Given the description of an element on the screen output the (x, y) to click on. 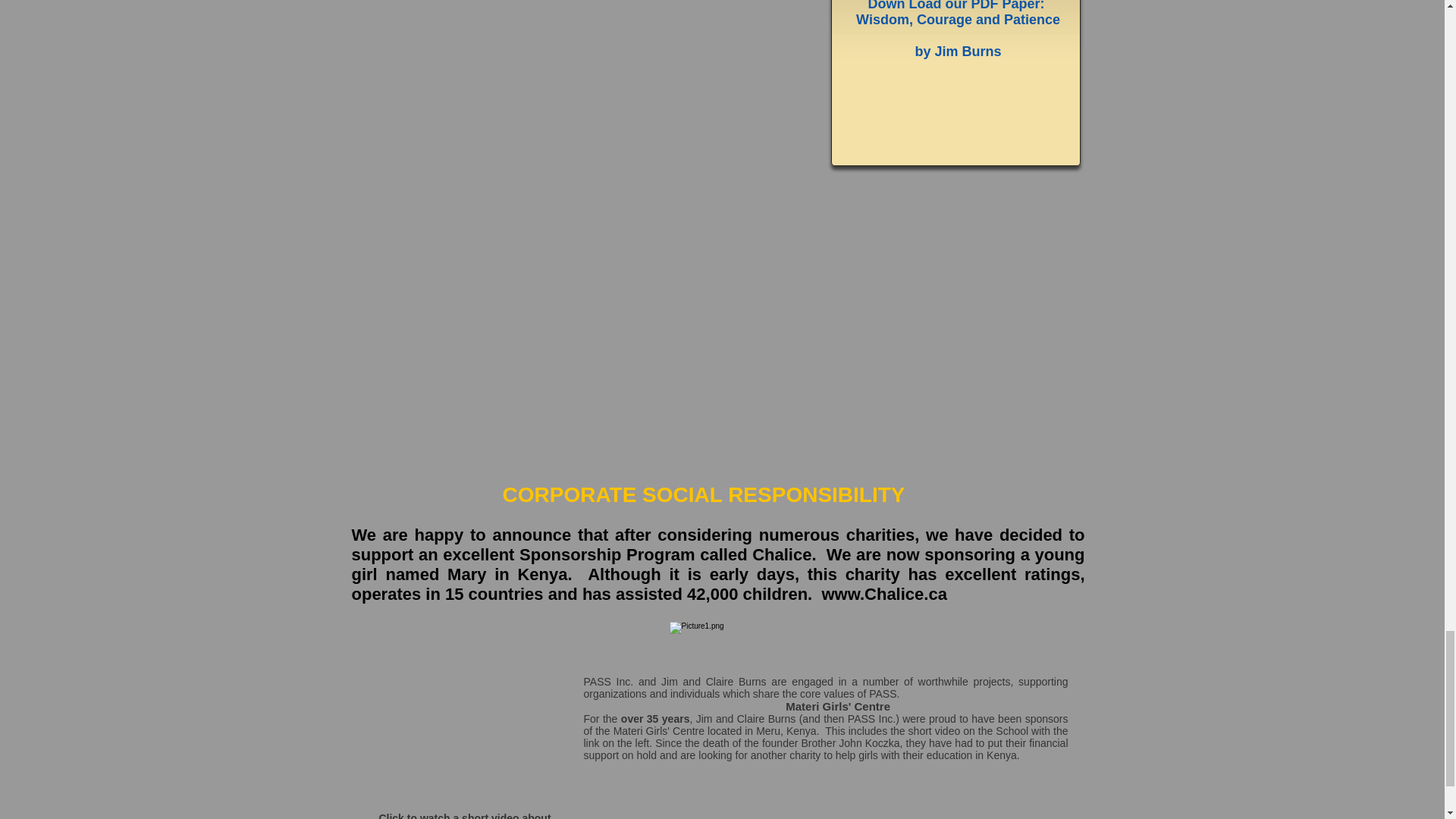
External YouTube (465, 712)
Wisdom Courage and Patience Oct 2020 Fin (954, 121)
www.Chalice.ca (883, 593)
